Given the description of an element on the screen output the (x, y) to click on. 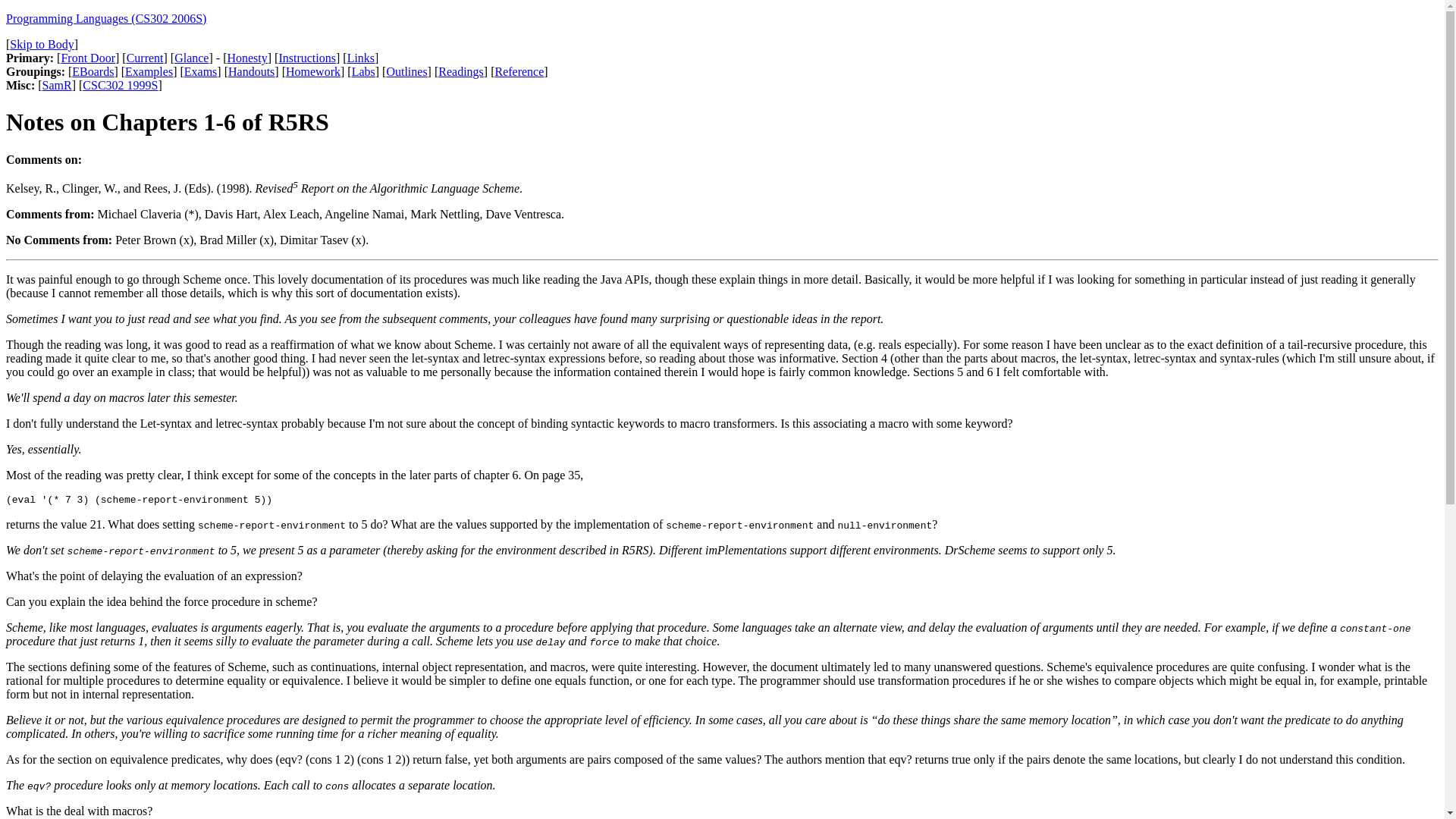
Exams (200, 71)
SamR (56, 84)
CSC302 1999S (119, 84)
Current (144, 57)
Homework (312, 71)
Outlines (405, 71)
Handouts (251, 71)
Glance (191, 57)
Examples (149, 71)
Honesty (246, 57)
Links (360, 57)
Instructions (307, 57)
Readings (460, 71)
Labs (363, 71)
Reference (519, 71)
